Given the description of an element on the screen output the (x, y) to click on. 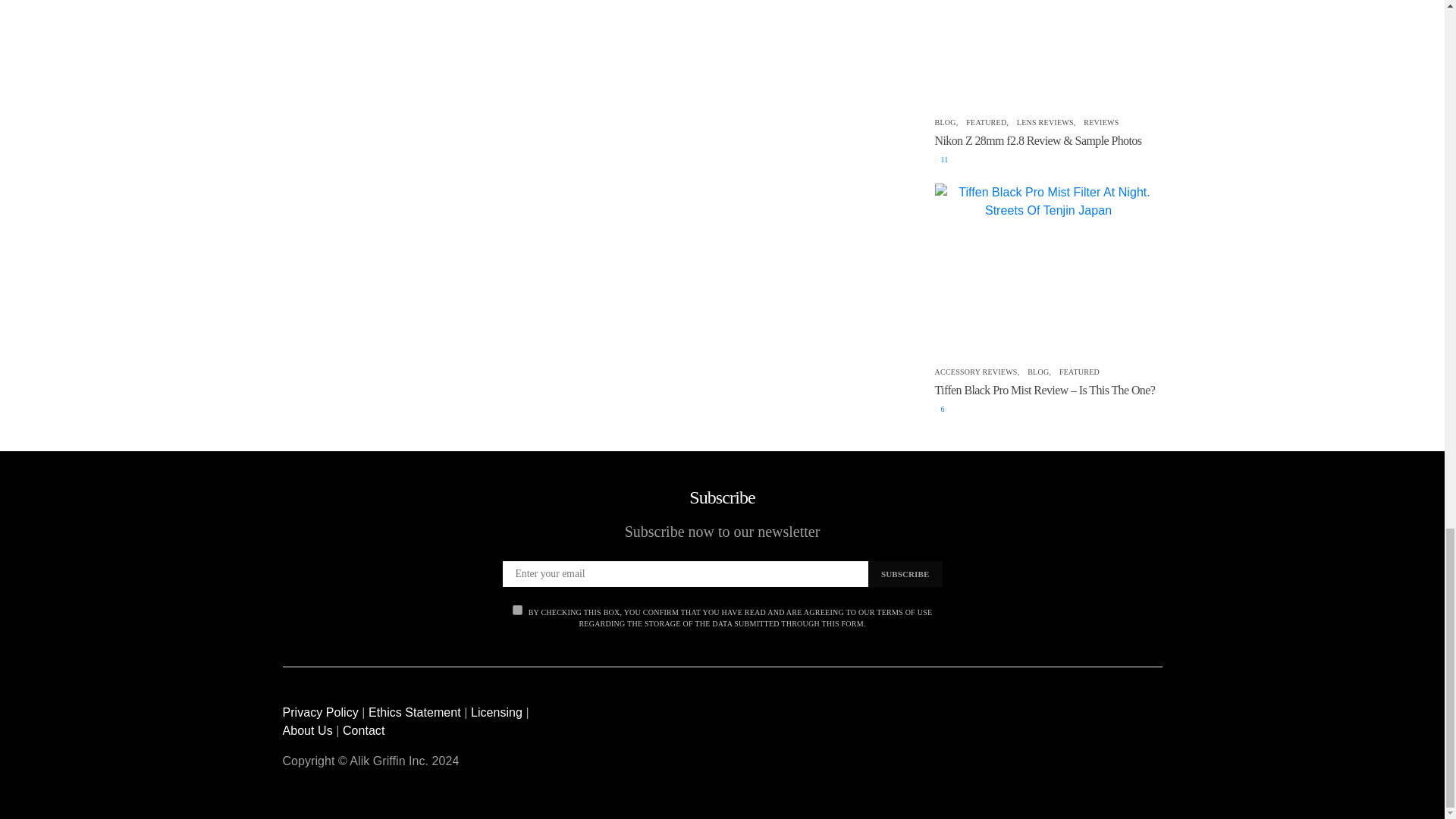
on (517, 610)
